Given the description of an element on the screen output the (x, y) to click on. 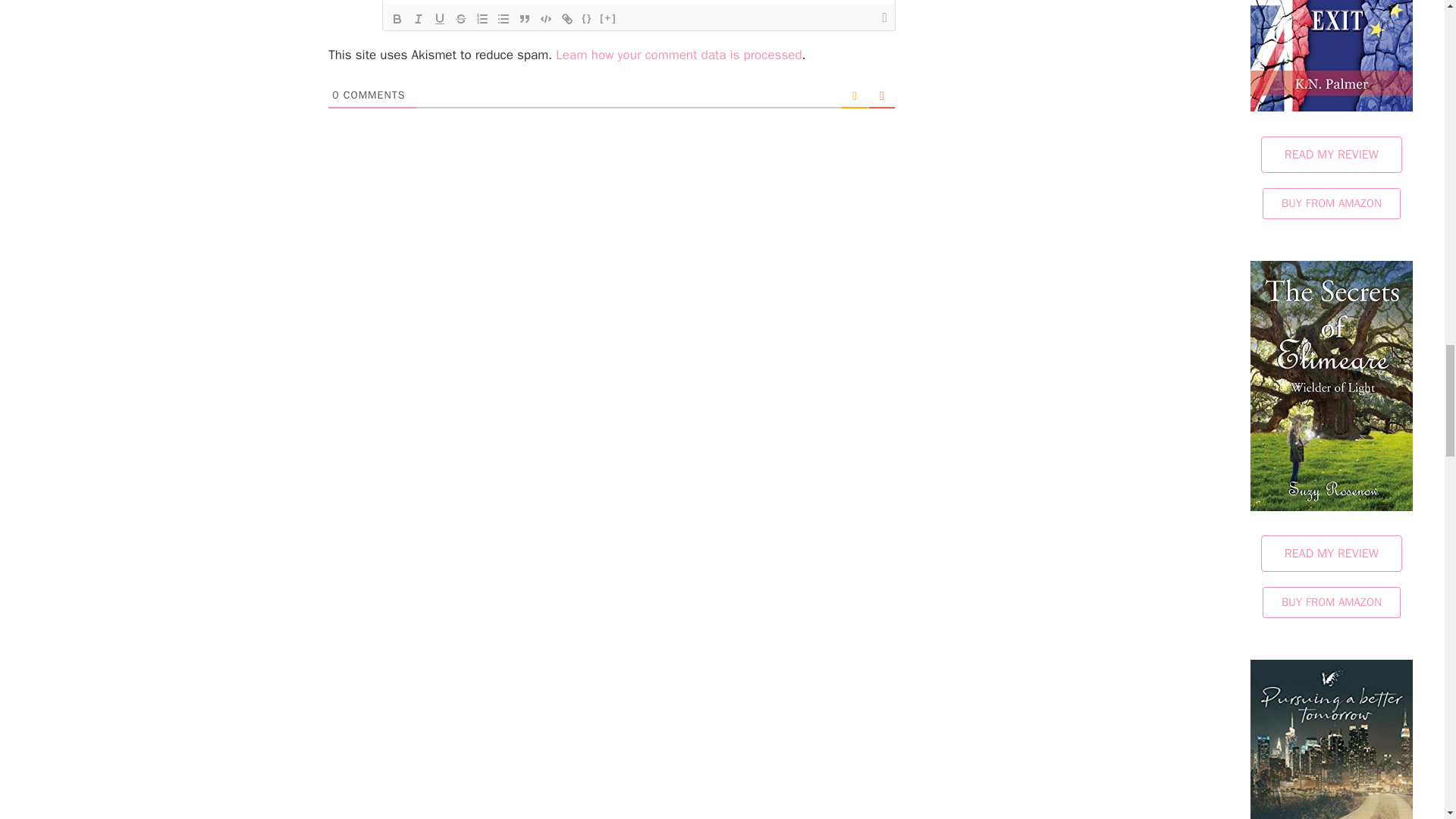
Bold (397, 18)
Underline (439, 18)
Code Block (545, 18)
Strike (460, 18)
Ordered List (482, 18)
Italic (418, 18)
Blockquote (524, 18)
Unordered List (503, 18)
